Given the description of an element on the screen output the (x, y) to click on. 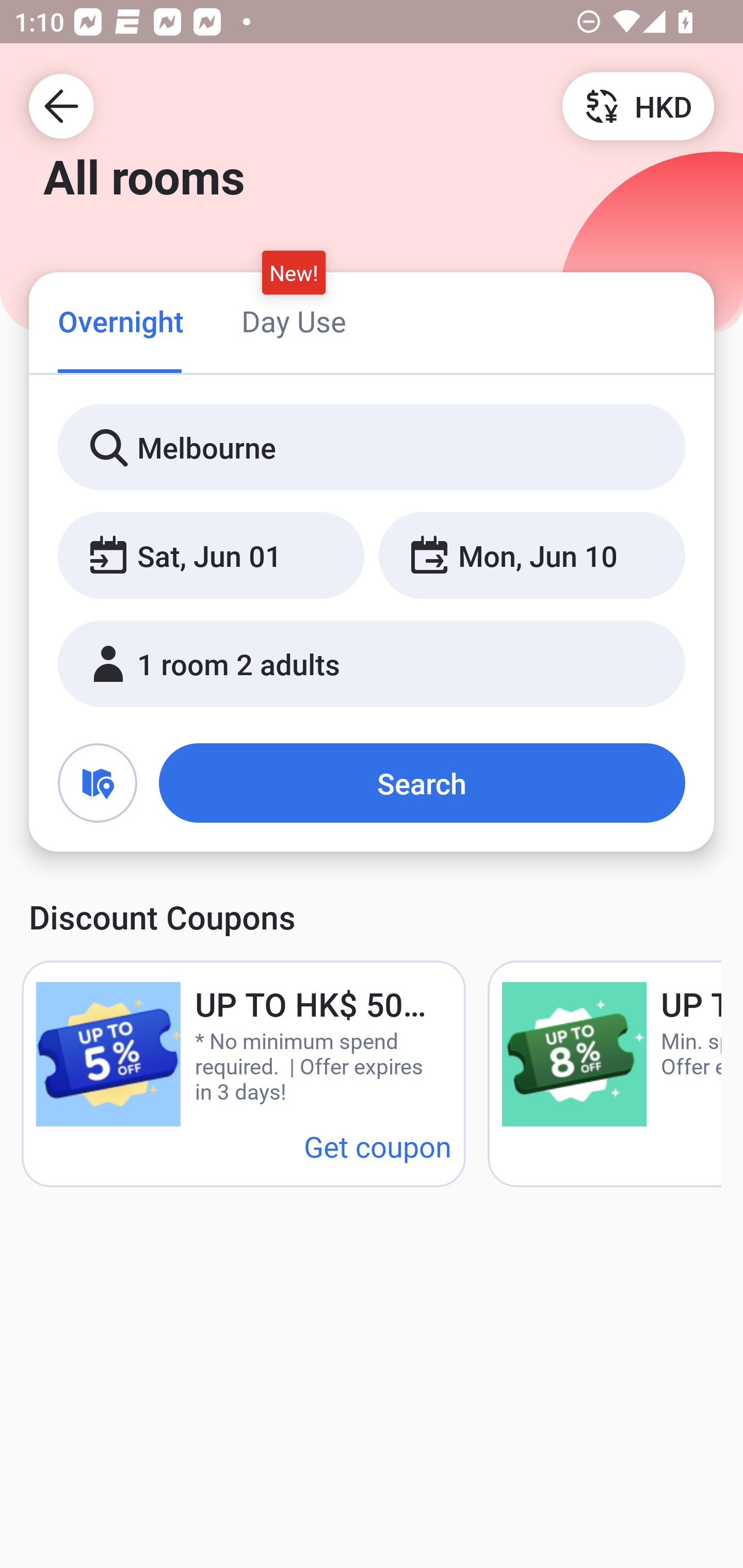
HKD (638, 105)
New! (294, 272)
Day Use (293, 321)
Melbourne (371, 447)
Sat, Jun 01 (210, 555)
Mon, Jun 10 (531, 555)
1 room 2 adults (371, 663)
Search (422, 783)
Get coupon (377, 1146)
